Given the description of an element on the screen output the (x, y) to click on. 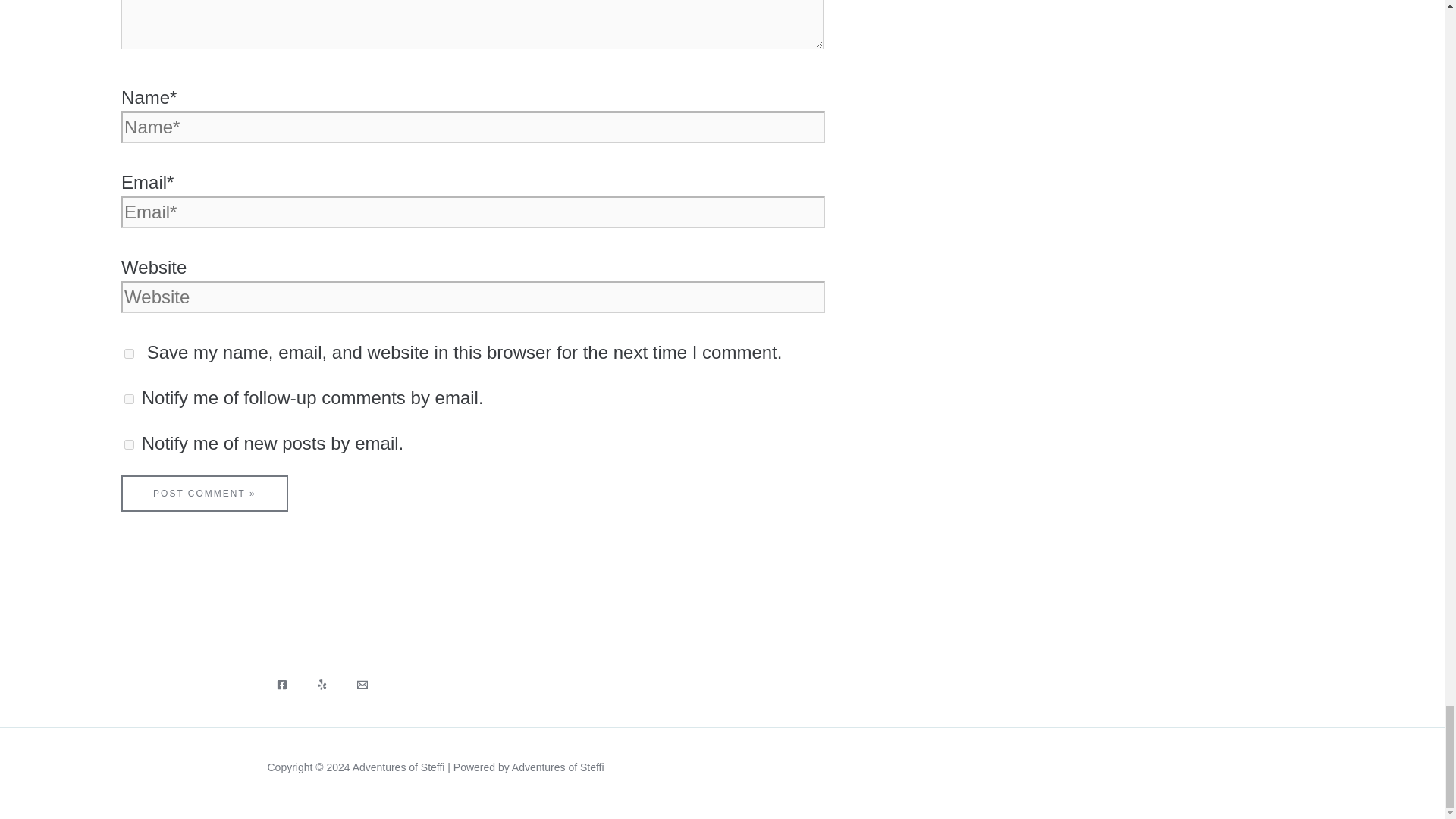
Email (361, 684)
yes (128, 353)
subscribe (128, 444)
subscribe (128, 398)
